Given the description of an element on the screen output the (x, y) to click on. 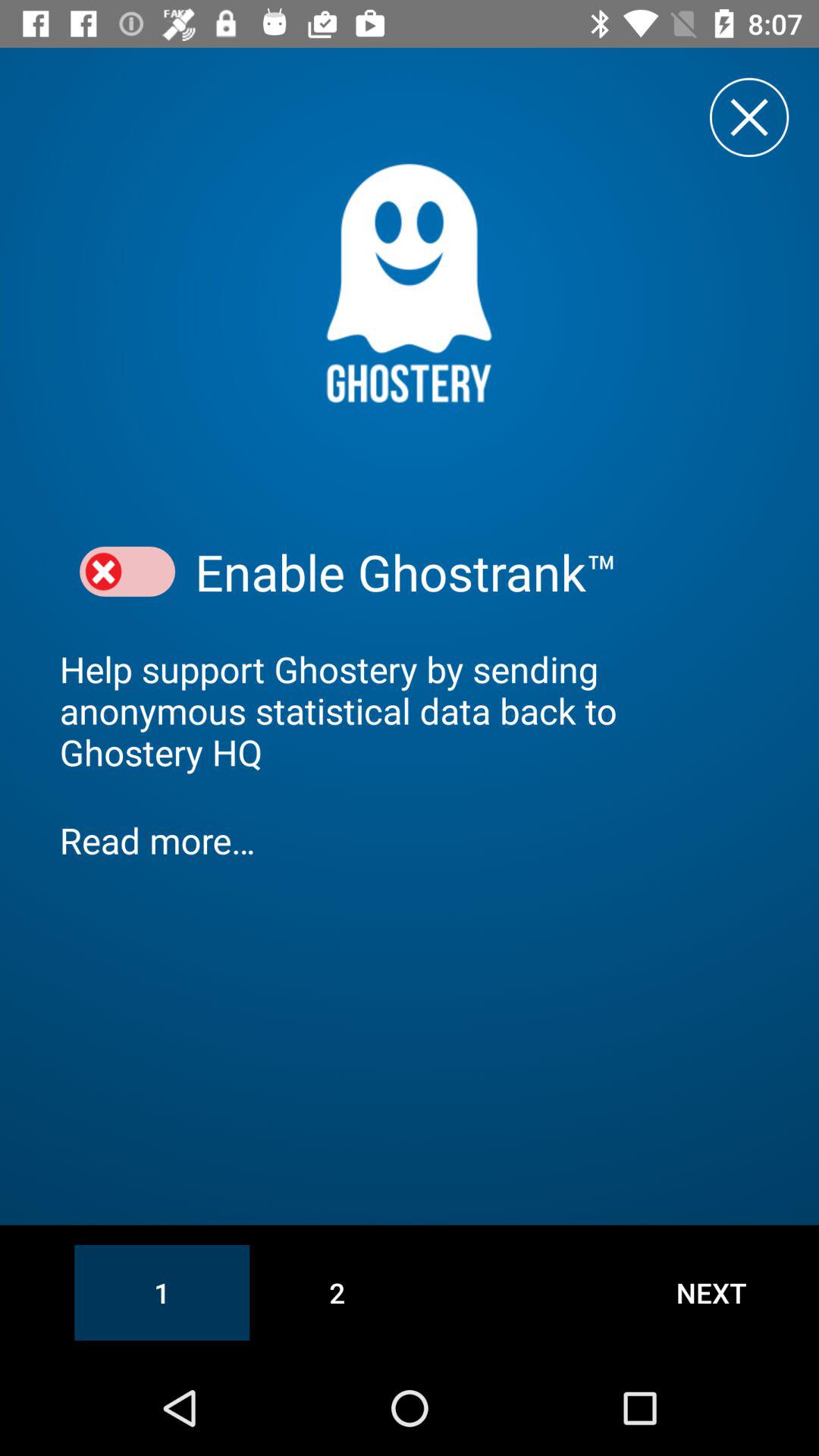
close pop-up (749, 117)
